Given the description of an element on the screen output the (x, y) to click on. 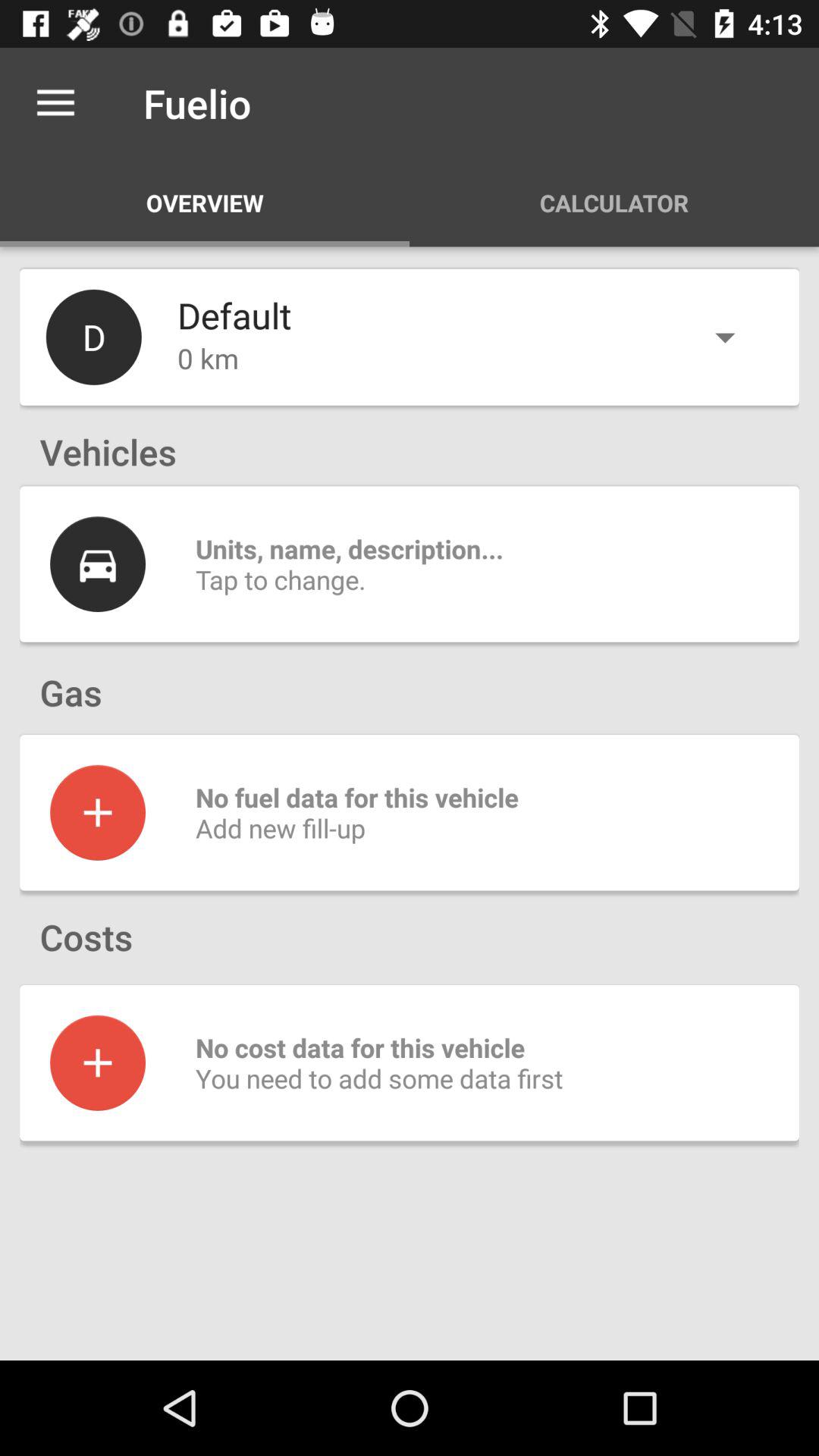
open details of subject (97, 563)
